Given the description of an element on the screen output the (x, y) to click on. 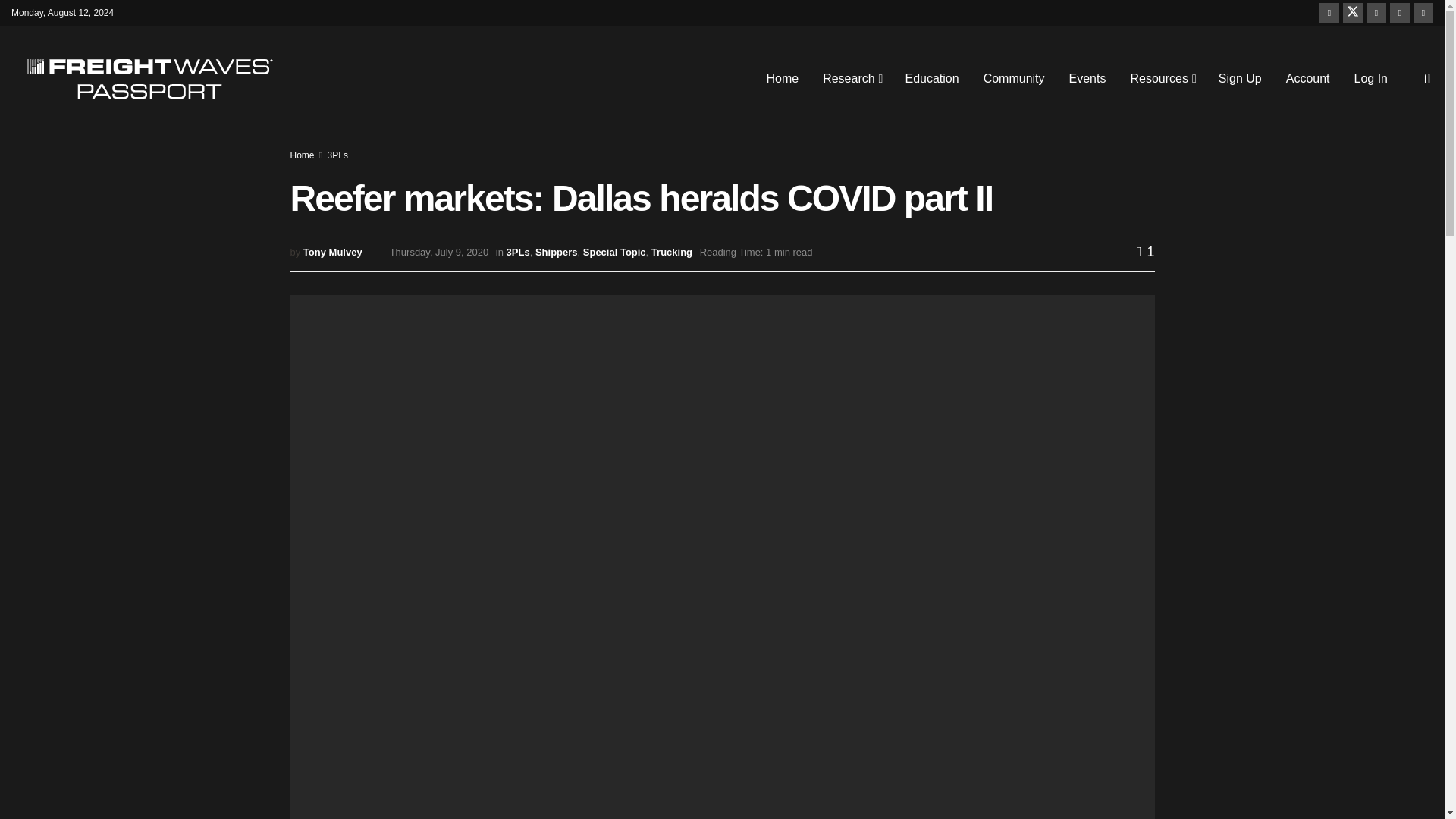
Events (1087, 78)
Research (851, 78)
Community (1014, 78)
Education (931, 78)
Resources (1161, 78)
Account (1308, 78)
Sign Up (1240, 78)
Log In (1370, 78)
Home (782, 78)
